Given the description of an element on the screen output the (x, y) to click on. 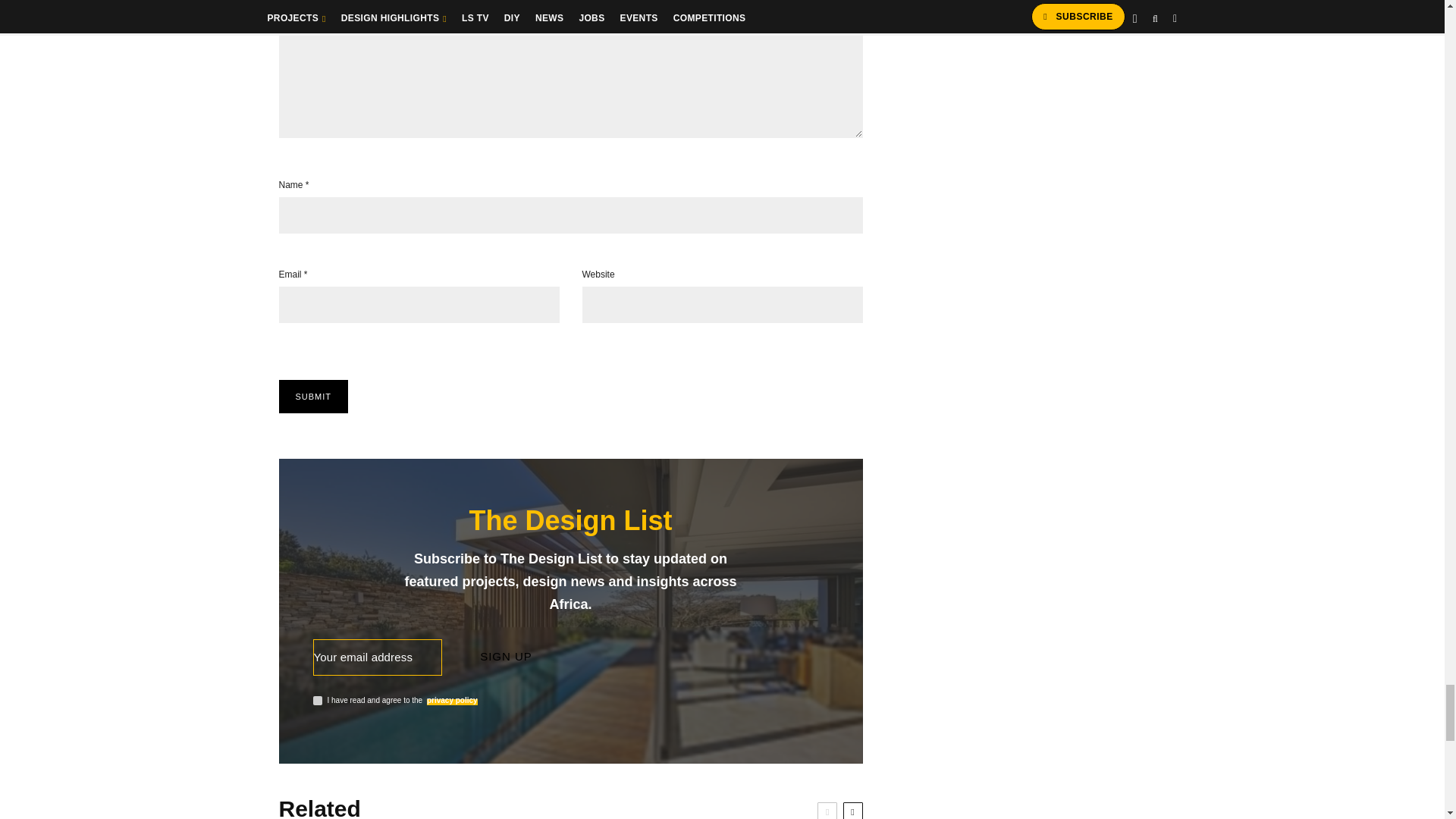
Submit (314, 396)
